Given the description of an element on the screen output the (x, y) to click on. 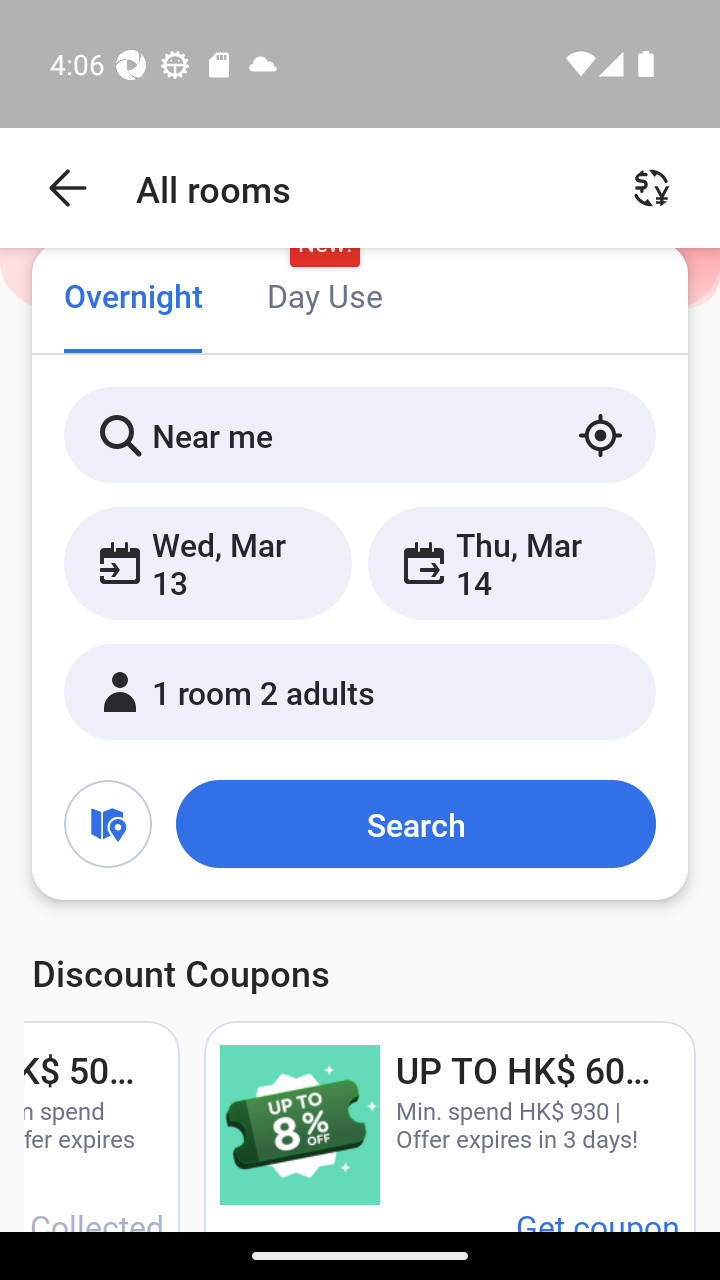
Day Use (324, 298)
Near me (359, 434)
Wed, Mar 13 (208, 562)
Thu, Mar 14 (511, 562)
1 room 2 adults (359, 691)
Search (415, 823)
